Given the description of an element on the screen output the (x, y) to click on. 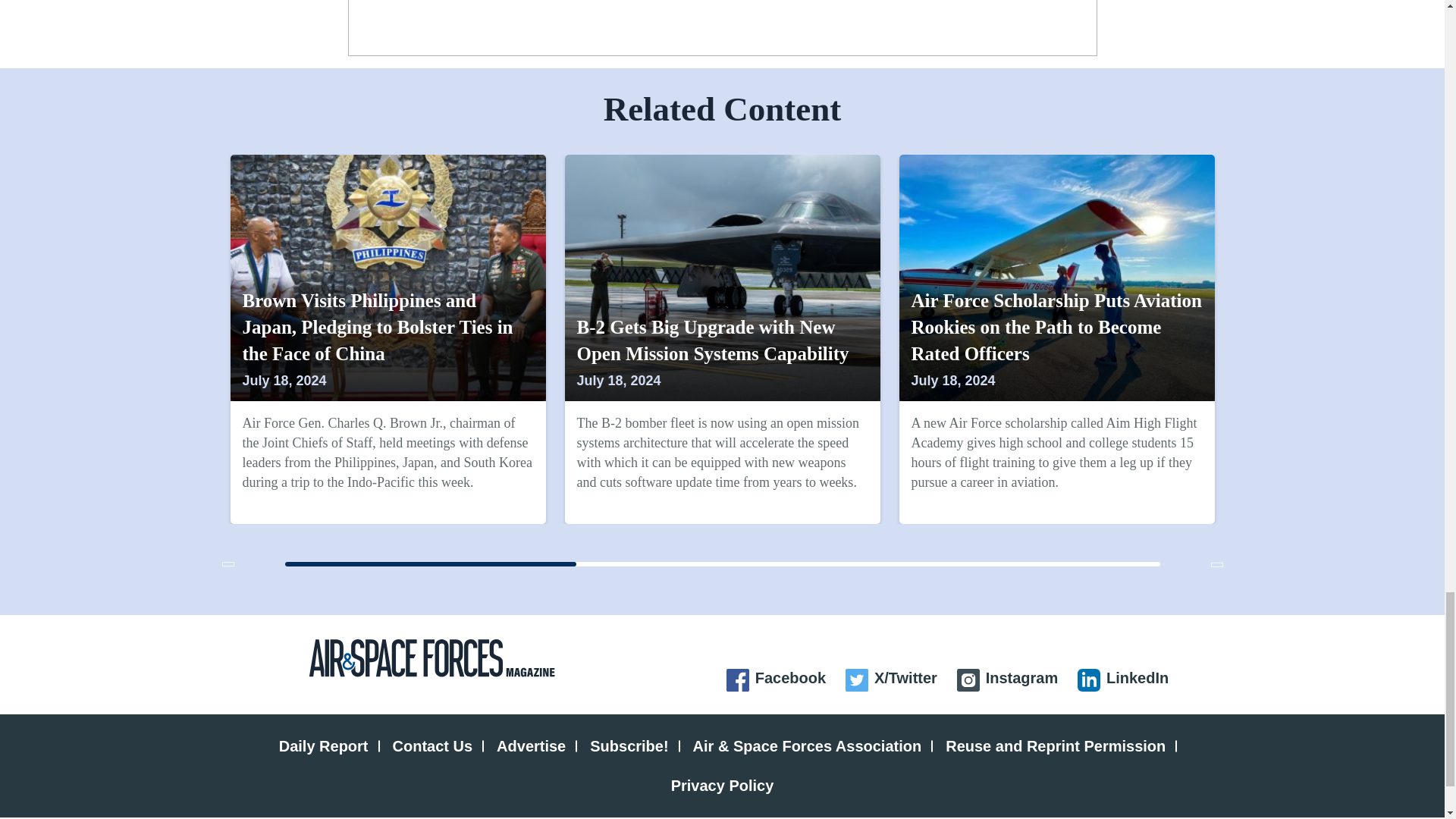
3rd party ad content (722, 24)
